Given the description of an element on the screen output the (x, y) to click on. 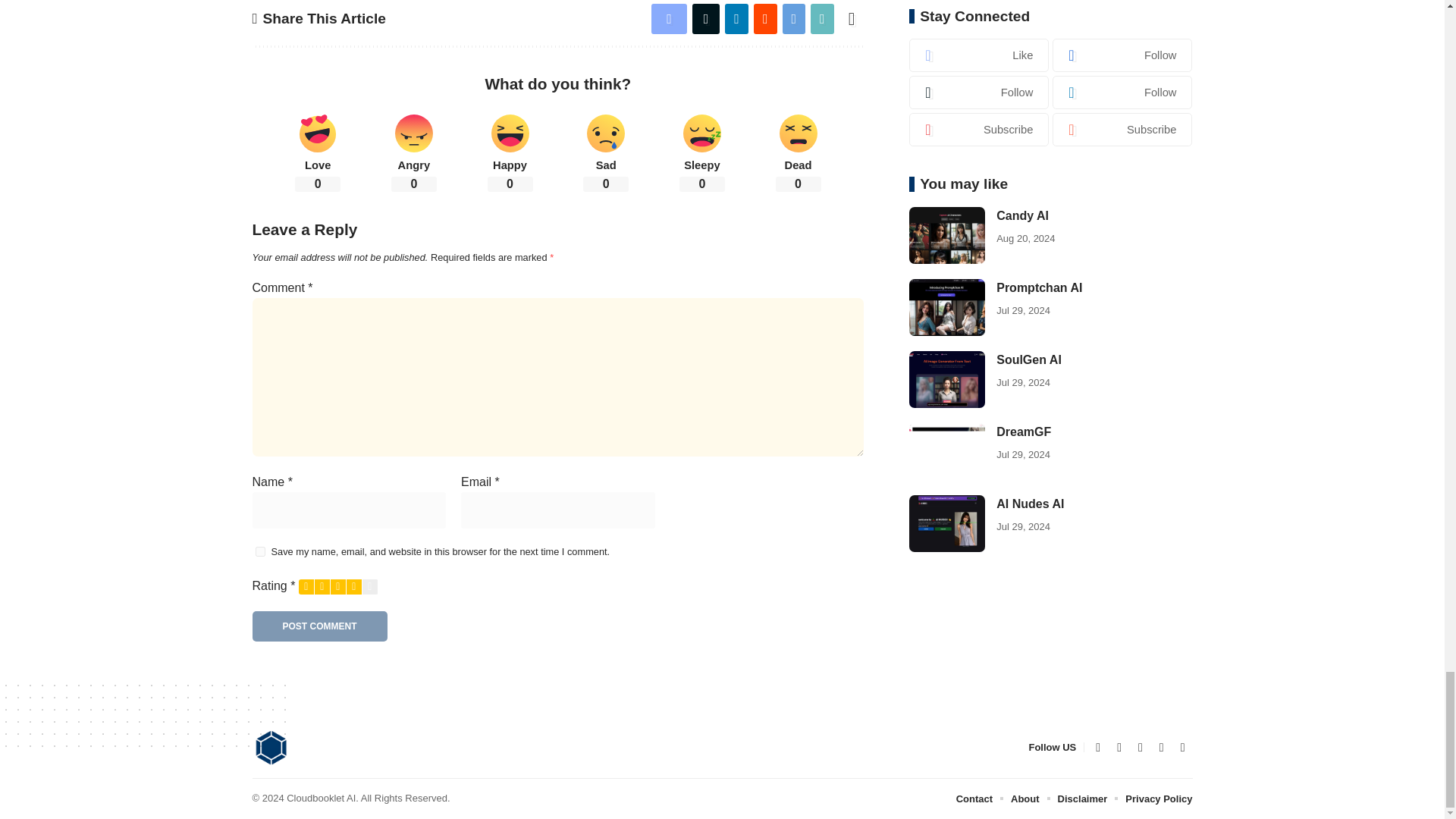
5 Stars (369, 586)
4 Stars (353, 586)
2 Stars (322, 586)
3 Stars (338, 586)
Post Comment (319, 625)
yes (259, 551)
